Given the description of an element on the screen output the (x, y) to click on. 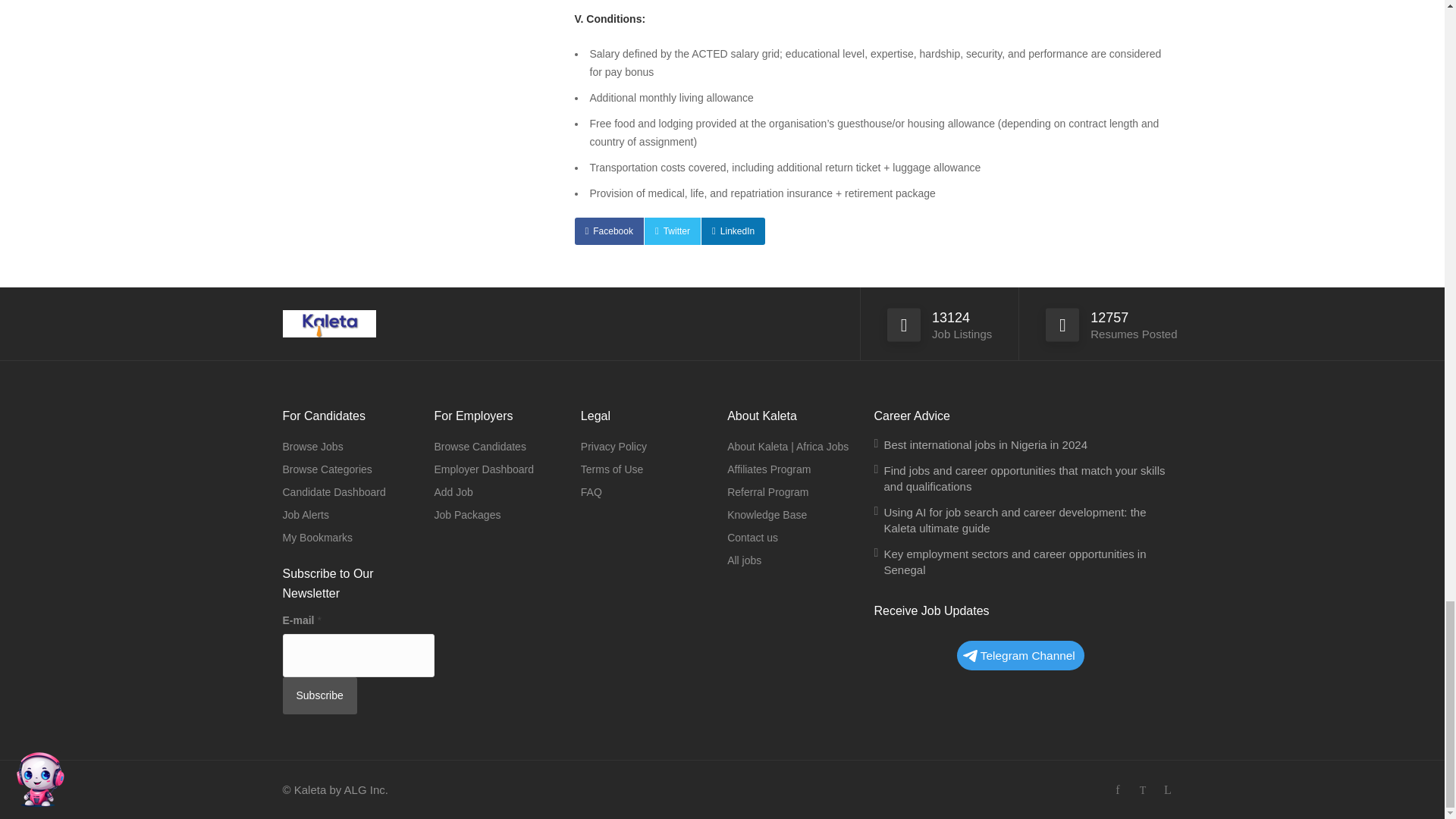
twitter (1141, 789)
facebook (1117, 789)
linkedin (1167, 789)
Twitter (672, 230)
E-mail (357, 655)
Subscribe (319, 695)
